Given the description of an element on the screen output the (x, y) to click on. 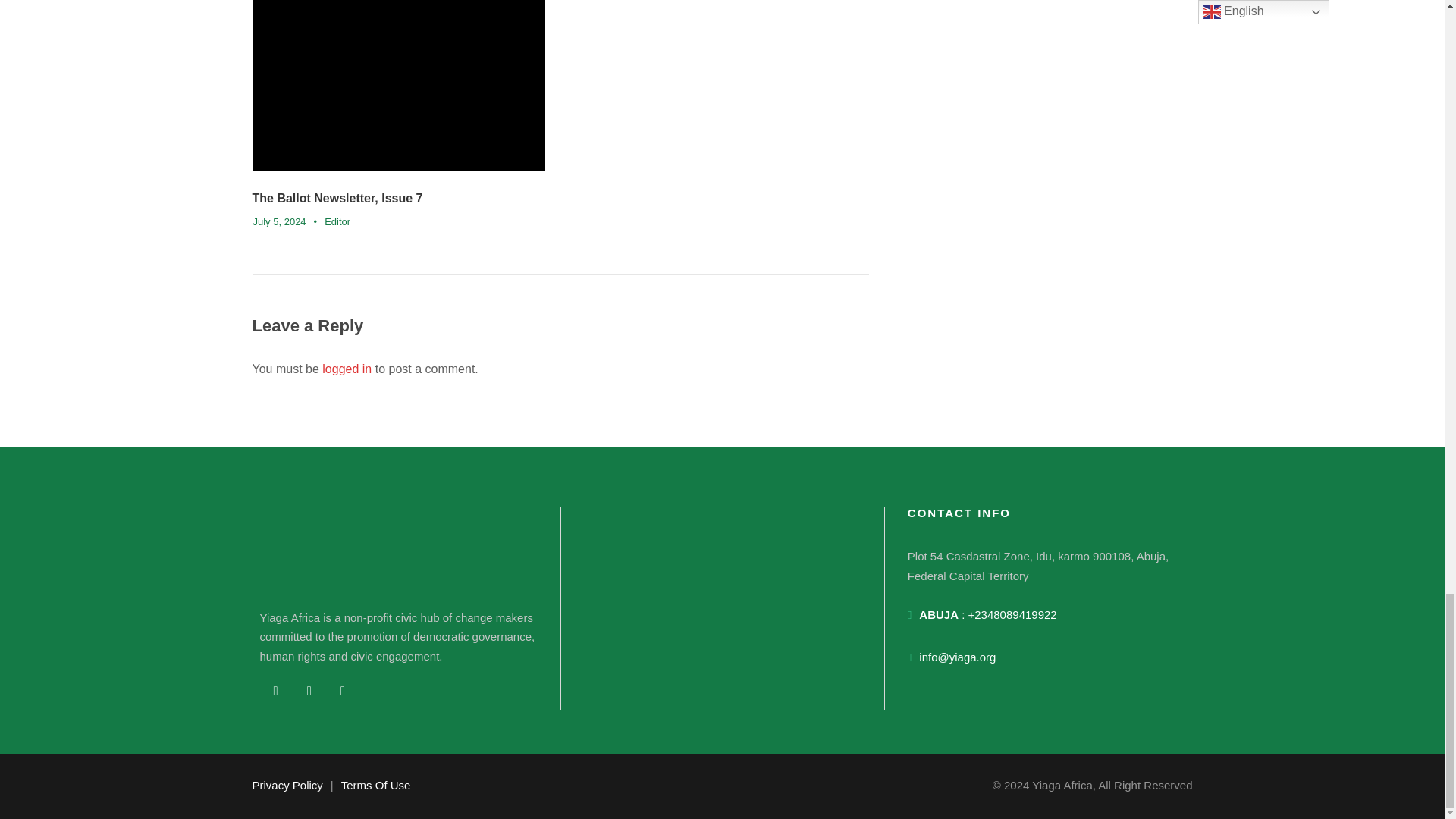
Posts by Editor (337, 221)
